Given the description of an element on the screen output the (x, y) to click on. 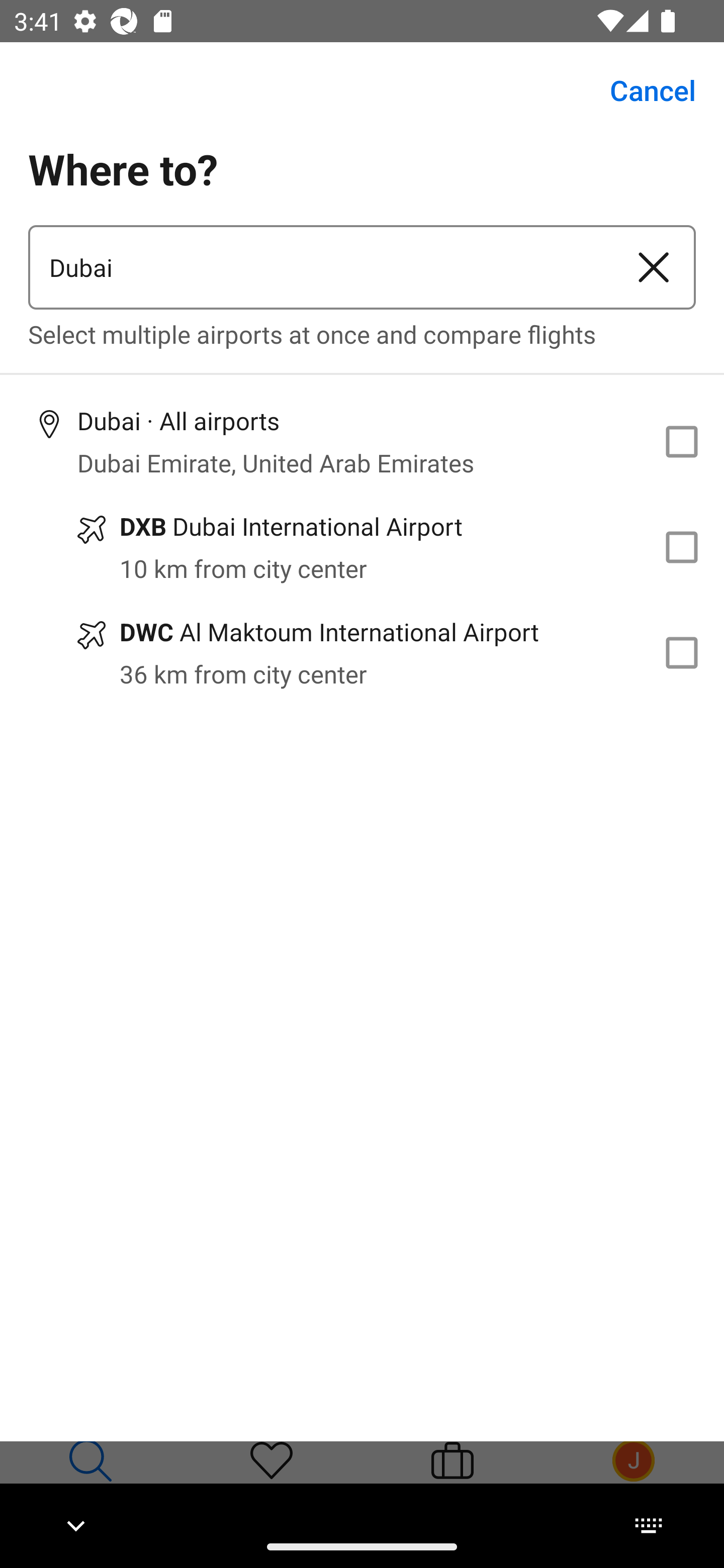
Cancel (641, 90)
Dubai (319, 266)
Clear airport or city (653, 266)
